Given the description of an element on the screen output the (x, y) to click on. 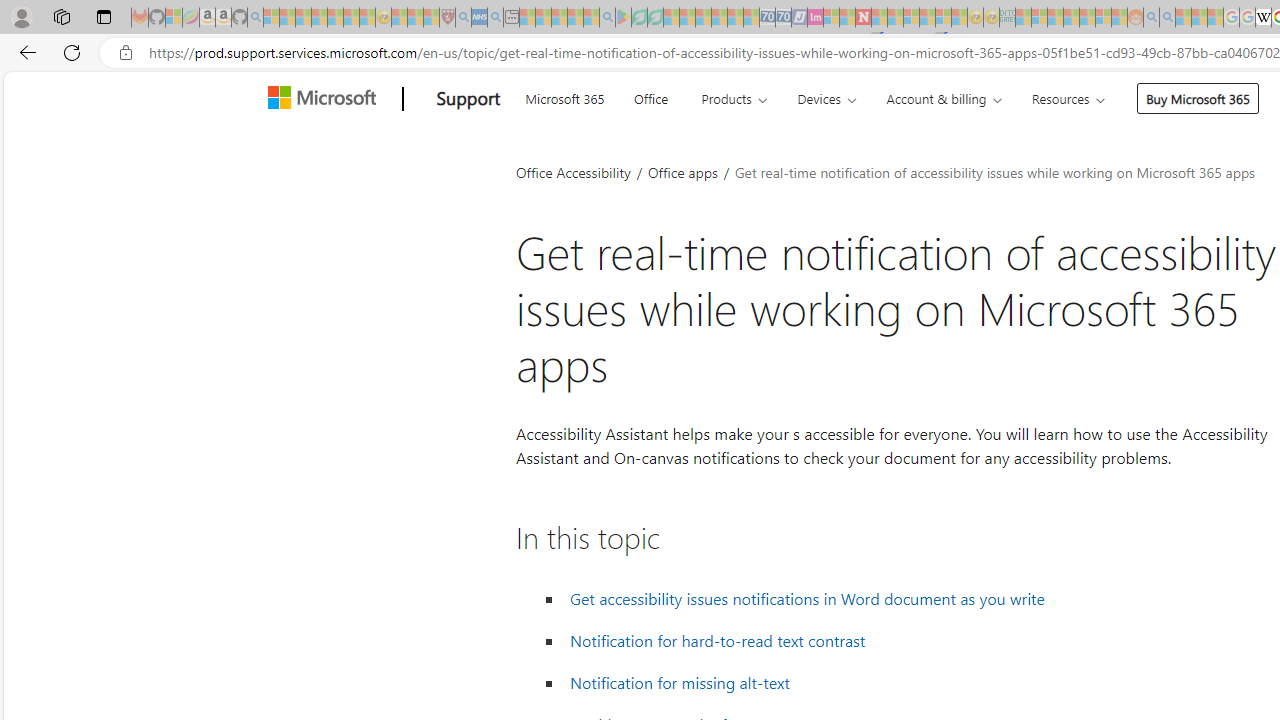
Jobs - lastminute.com Investor Portal - Sleeping (815, 17)
Support (468, 99)
Utah sues federal government - Search - Sleeping (1167, 17)
